Given the description of an element on the screen output the (x, y) to click on. 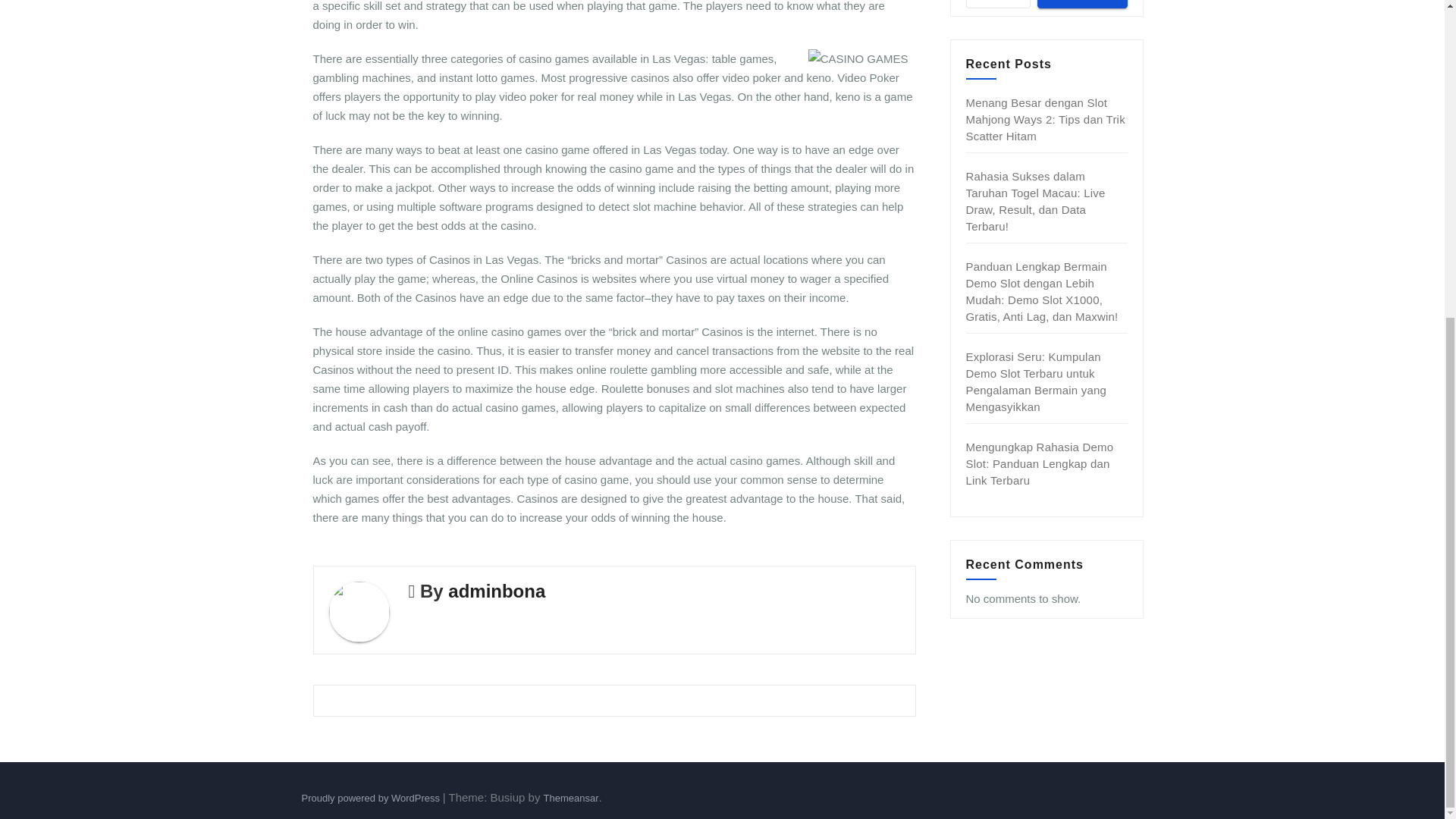
Search (1081, 4)
Themeansar (570, 797)
adminbona (496, 590)
Proudly powered by WordPress (371, 797)
